Given the description of an element on the screen output the (x, y) to click on. 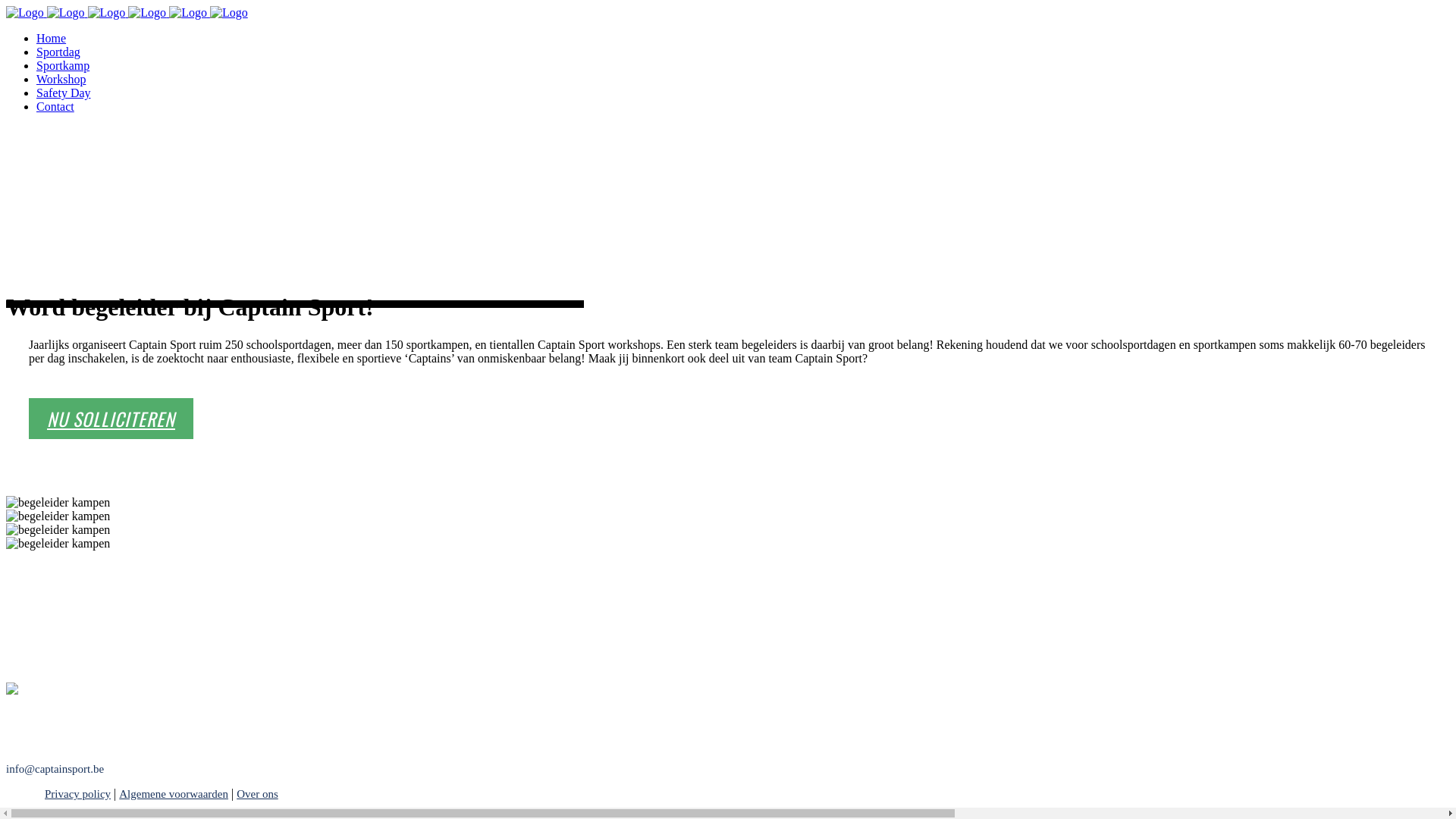
Workshop Element type: text (60, 78)
Over ons Element type: text (257, 793)
Safety Day Element type: text (63, 92)
Privacy policy Element type: text (65, 793)
NU SOLLICITEREN Element type: text (110, 418)
Sportkamp Element type: text (62, 65)
Home Element type: text (50, 37)
Algemene voorwaarden Element type: text (173, 793)
Contact Element type: text (55, 106)
Sportdag Element type: text (58, 51)
